Given the description of an element on the screen output the (x, y) to click on. 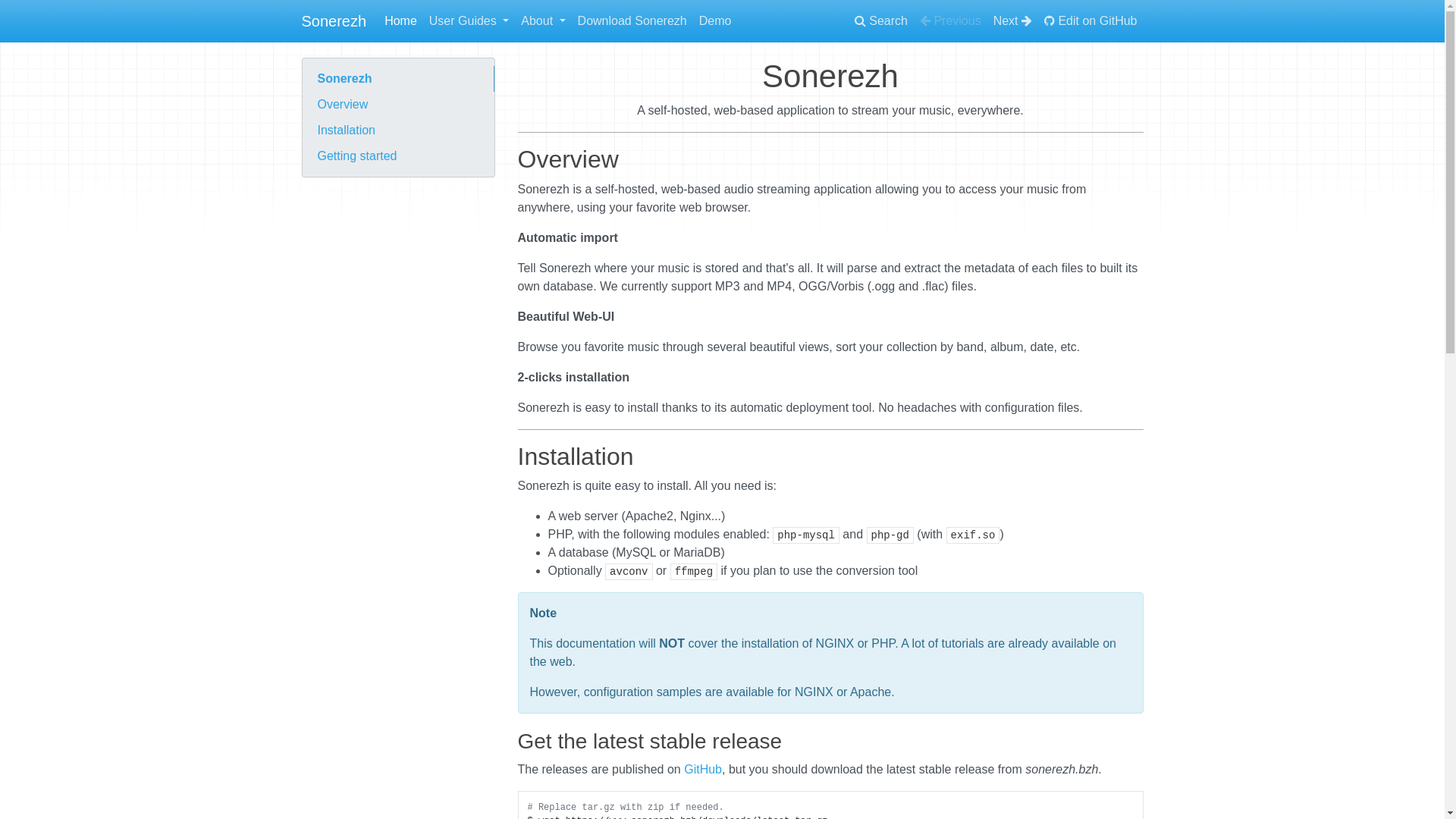
GitHub Element type: text (702, 768)
Home Element type: text (400, 21)
Getting started Element type: text (397, 156)
About Element type: text (542, 21)
Download Sonerezh Element type: text (632, 21)
Overview Element type: text (397, 104)
Edit on GitHub Element type: text (1090, 21)
Search Element type: text (880, 21)
User Guides Element type: text (468, 21)
Next Element type: text (1012, 21)
Sonerezh Element type: text (397, 78)
Previous Element type: text (950, 21)
Demo Element type: text (715, 21)
Sonerezh Element type: text (334, 21)
Installation Element type: text (397, 130)
